Given the description of an element on the screen output the (x, y) to click on. 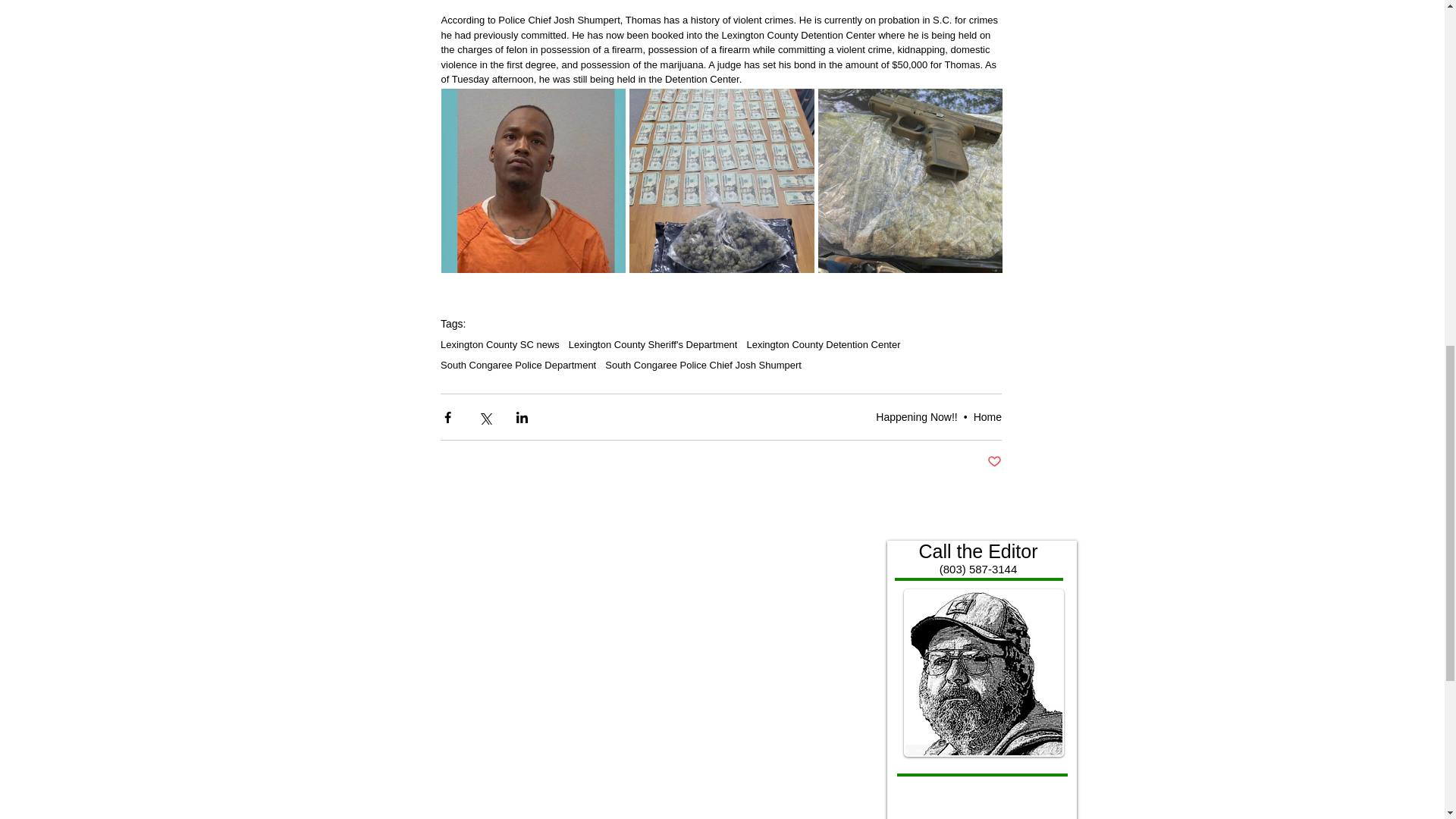
Happening Now!! (916, 417)
Post not marked as liked (994, 462)
Lexington County Sheriff's Department (653, 344)
South Congaree Police Department (518, 365)
Home (987, 417)
Lexington County SC news (500, 344)
South Congaree Police Chief Josh Shumpert (703, 365)
Lexington County Detention Center (822, 344)
